Given the description of an element on the screen output the (x, y) to click on. 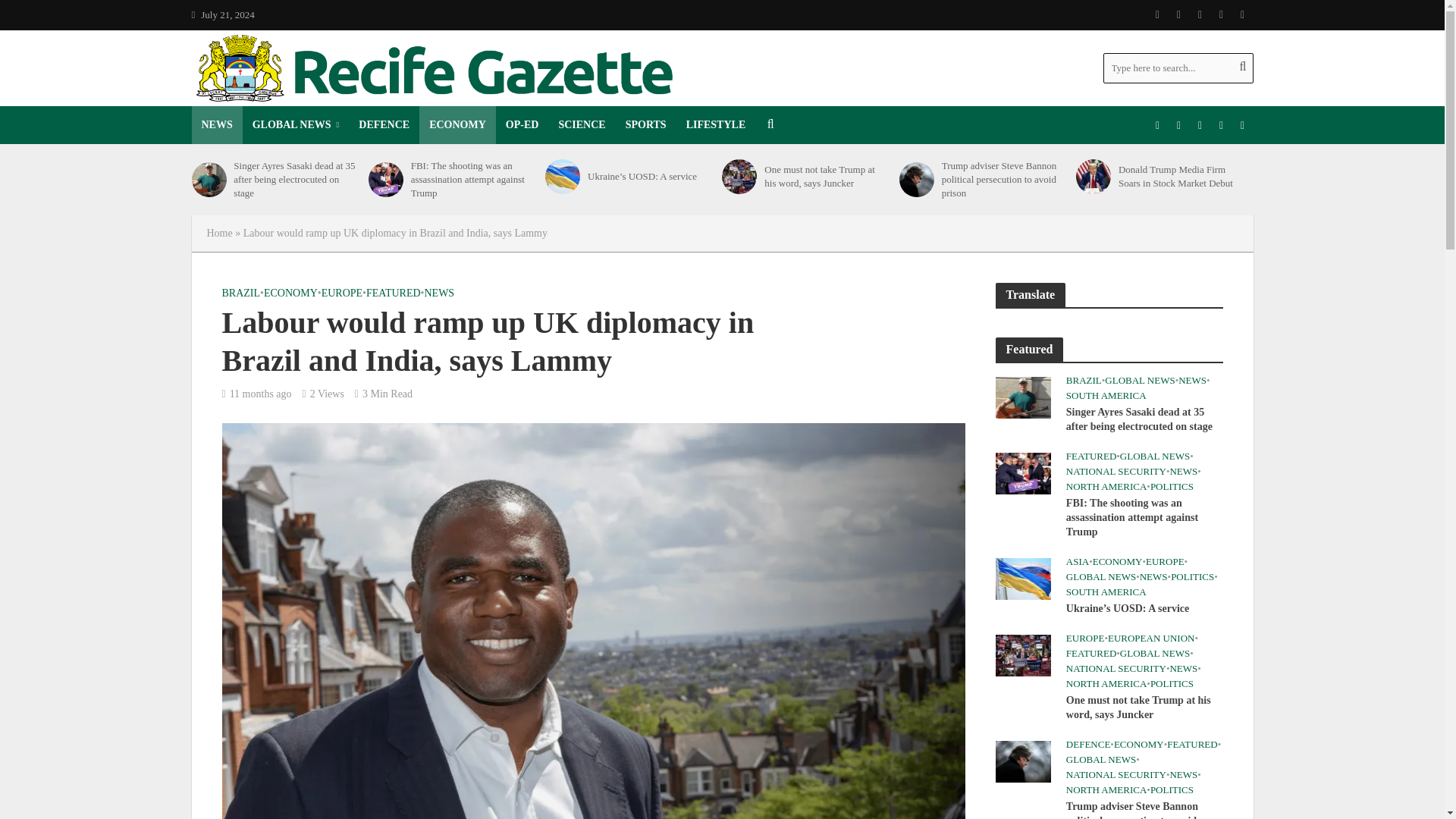
FBI: The shooting was an assassination attempt against Trump (385, 179)
NEWS (215, 125)
Donald Trump Media Firm Soars in Stock Market Debut (1092, 176)
One must not take Trump at his word, says Juncker (739, 176)
FBI: The shooting was an assassination attempt against Trump (1021, 472)
One must not take Trump at his word, says Juncker (1021, 654)
GLOBAL NEWS (296, 125)
